Given the description of an element on the screen output the (x, y) to click on. 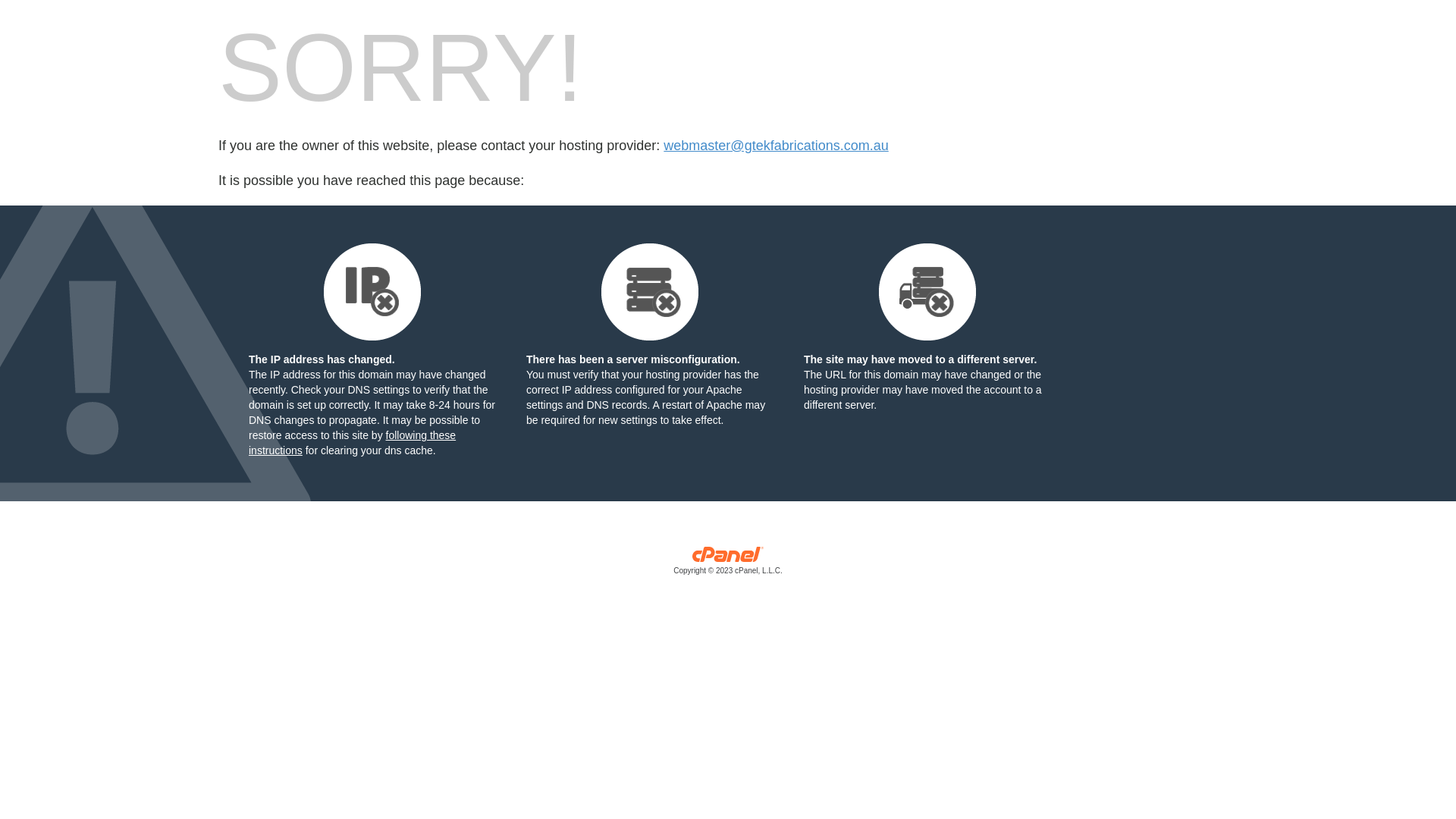
following these instructions Element type: text (351, 442)
webmaster@gtekfabrications.com.au Element type: text (775, 145)
